Given the description of an element on the screen output the (x, y) to click on. 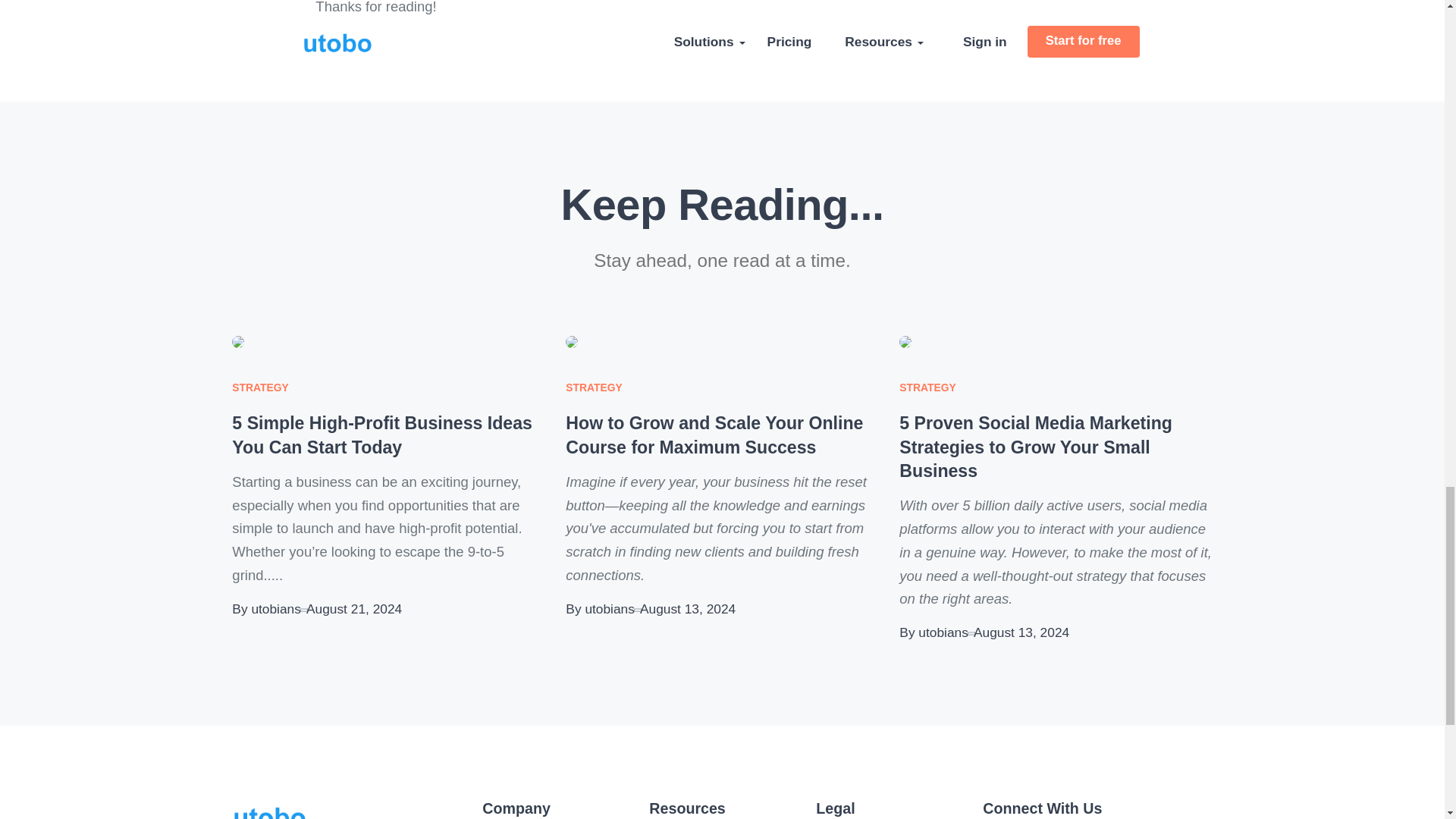
How to Grow and Scale Your Online Course for Maximum Success (714, 434)
5 Simple High-Profit Business Ideas You Can Start Today (381, 434)
